Given the description of an element on the screen output the (x, y) to click on. 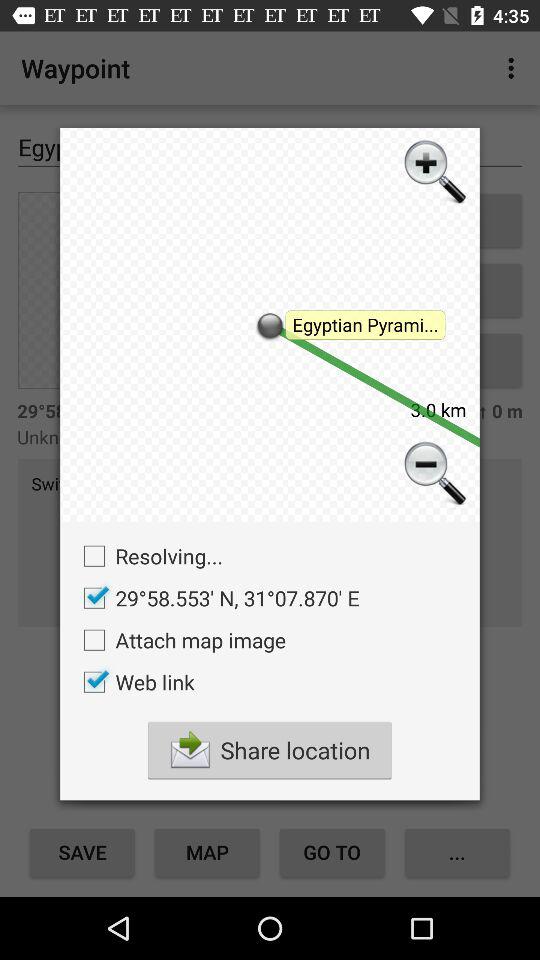
jump to the 29 58 553 icon (216, 598)
